Given the description of an element on the screen output the (x, y) to click on. 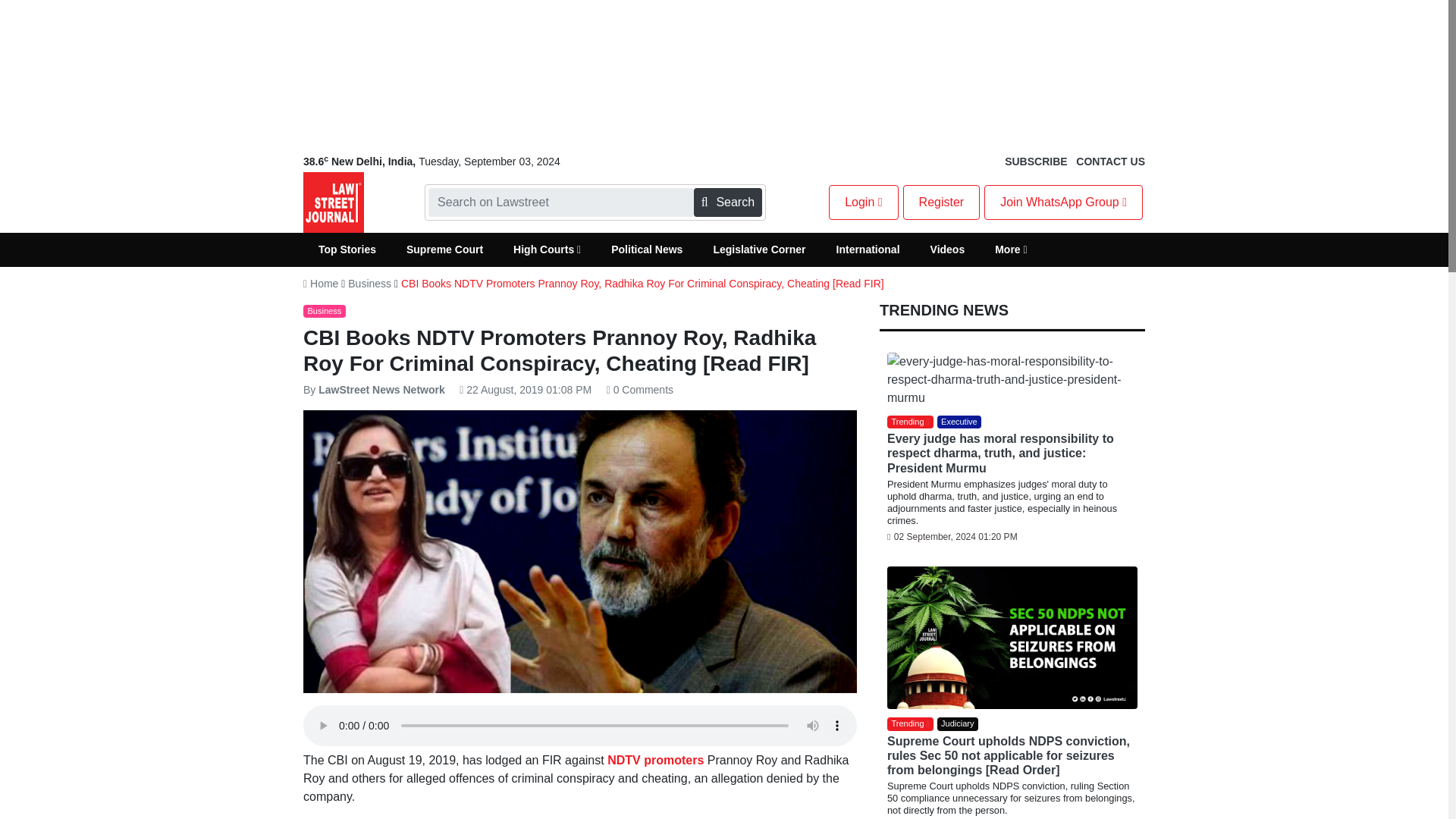
Supreme Court (444, 249)
Legislative Corner (759, 249)
International (868, 249)
Login (863, 202)
SUBSCRIBE (1035, 161)
Join WhatsApp Group (1063, 202)
Search (727, 202)
Register (940, 202)
High Courts (546, 249)
CONTACT US (1109, 161)
